Given the description of an element on the screen output the (x, y) to click on. 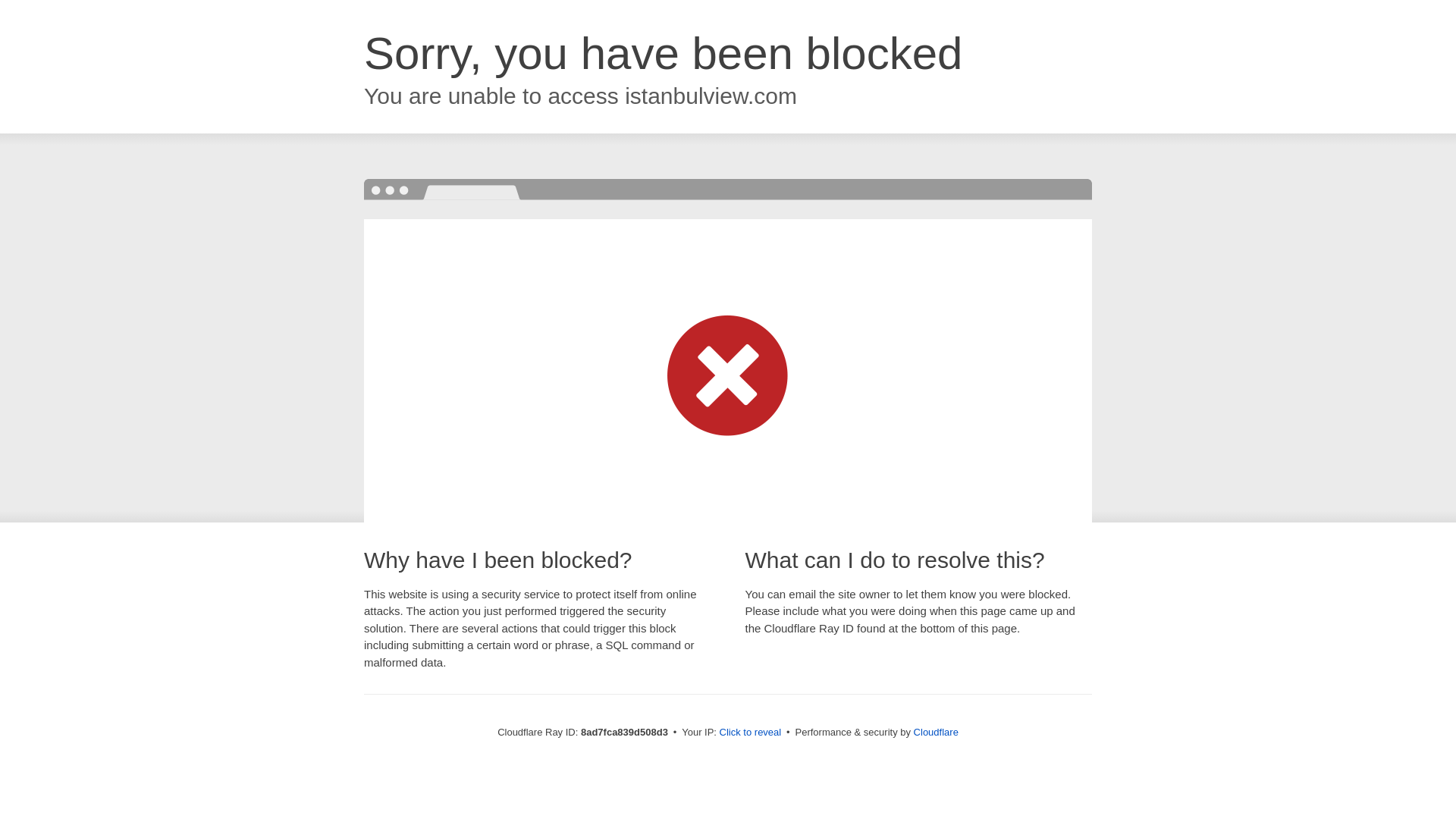
Click to reveal (750, 732)
Cloudflare (936, 731)
